Given the description of an element on the screen output the (x, y) to click on. 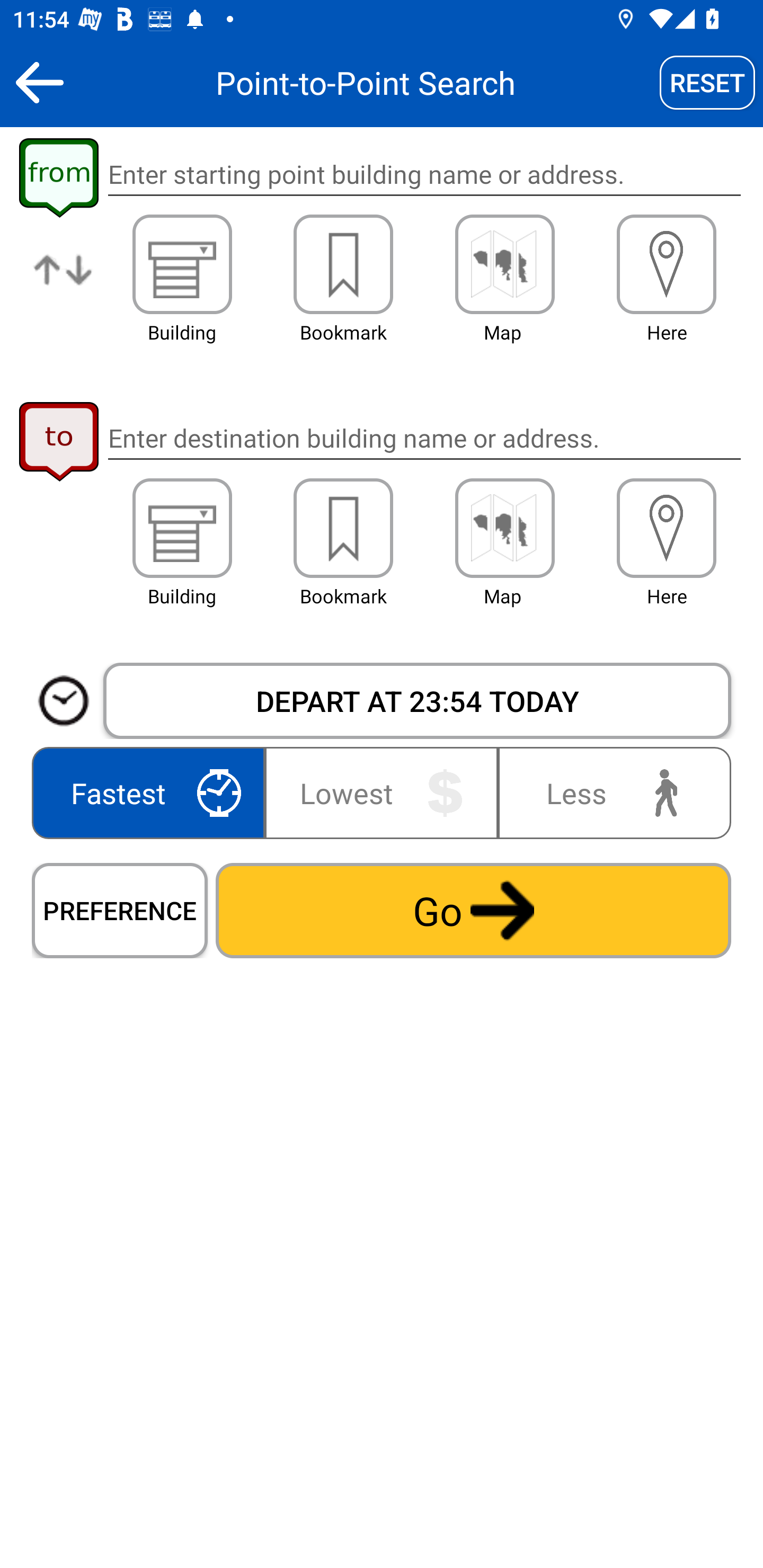
Back (39, 82)
RESET Reset (707, 81)
Enter starting point building name or address. (423, 174)
Building (181, 263)
Bookmarks (342, 263)
Select location on map (504, 263)
Here (666, 263)
Swap origin and destination (63, 284)
Enter destination building name or address. (423, 437)
Building (181, 528)
Bookmarks (342, 528)
Select location on map (504, 528)
Here (666, 528)
Lowest (381, 792)
Fastest selected (151, 792)
Less (610, 792)
PREFERENCE Preference (119, 910)
Go (472, 910)
